Given the description of an element on the screen output the (x, y) to click on. 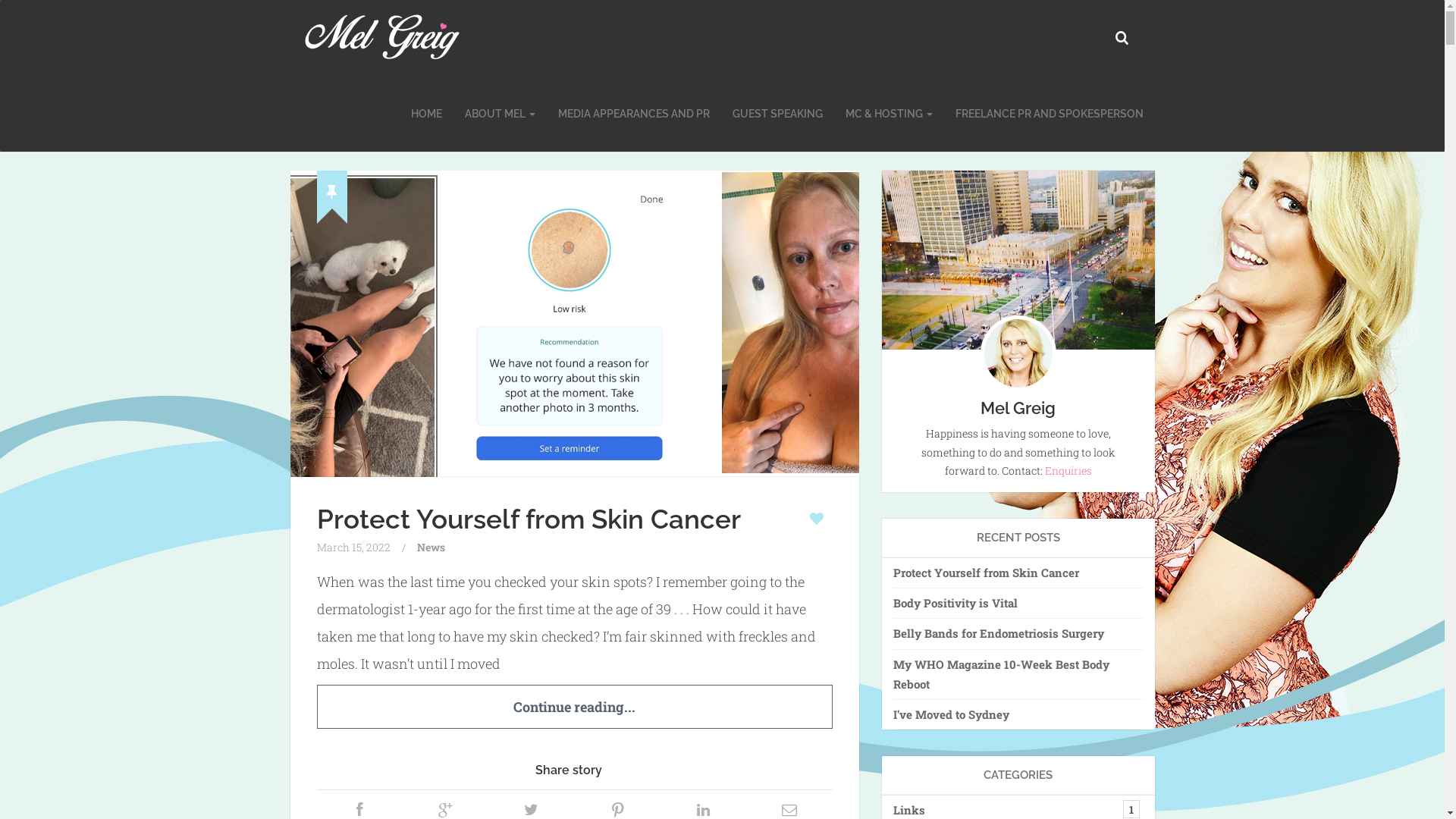
ABOUT MEL Element type: text (499, 113)
Body Positivity is Vital Element type: text (1018, 602)
Mel Greig Element type: hover (380, 37)
MC & HOSTING Element type: text (889, 113)
GUEST SPEAKING Element type: text (776, 113)
MEDIA APPEARANCES AND PR Element type: text (633, 113)
HOME Element type: text (425, 113)
Sticky Post Element type: hover (331, 191)
Enquiries Element type: text (1068, 470)
Belly Bands for Endometriosis Surgery Element type: text (1018, 633)
Protect Yourself from Skin Cancer Element type: text (1018, 572)
My WHO Magazine 10-Week Best Body Reboot Element type: text (1018, 674)
Continue reading... Element type: text (574, 706)
News Element type: text (431, 546)
FREELANCE PR AND SPOKESPERSON Element type: text (1048, 113)
Protect Yourself from Skin Cancer Element type: hover (573, 322)
Protect Yourself from Skin Cancer Element type: text (528, 518)
